Given the description of an element on the screen output the (x, y) to click on. 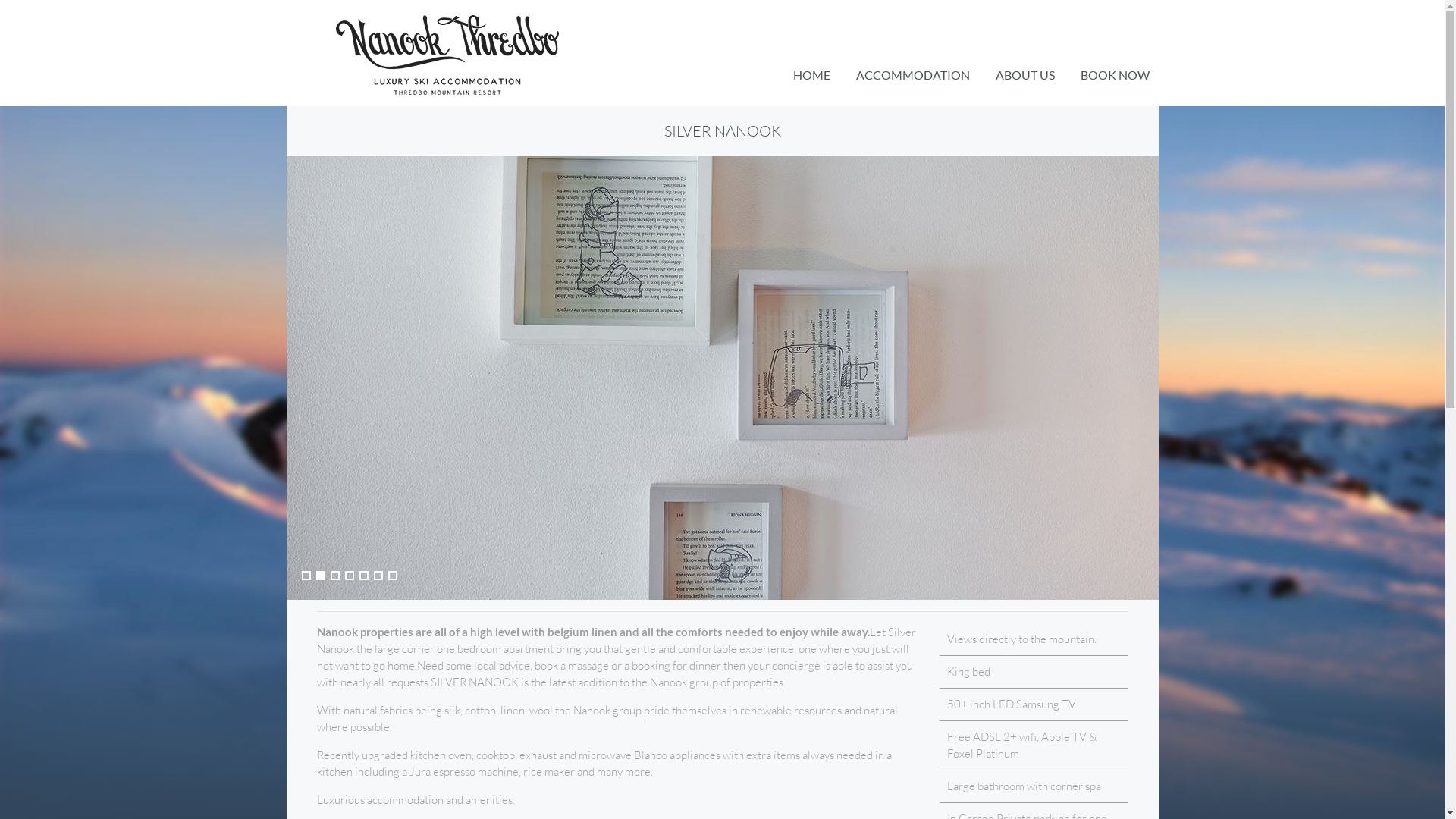
ACCOMMODATION Element type: text (912, 74)
ABOUT US Element type: text (1024, 74)
BOOK NOW Element type: text (1113, 74)
HOME Element type: text (811, 74)
